Given the description of an element on the screen output the (x, y) to click on. 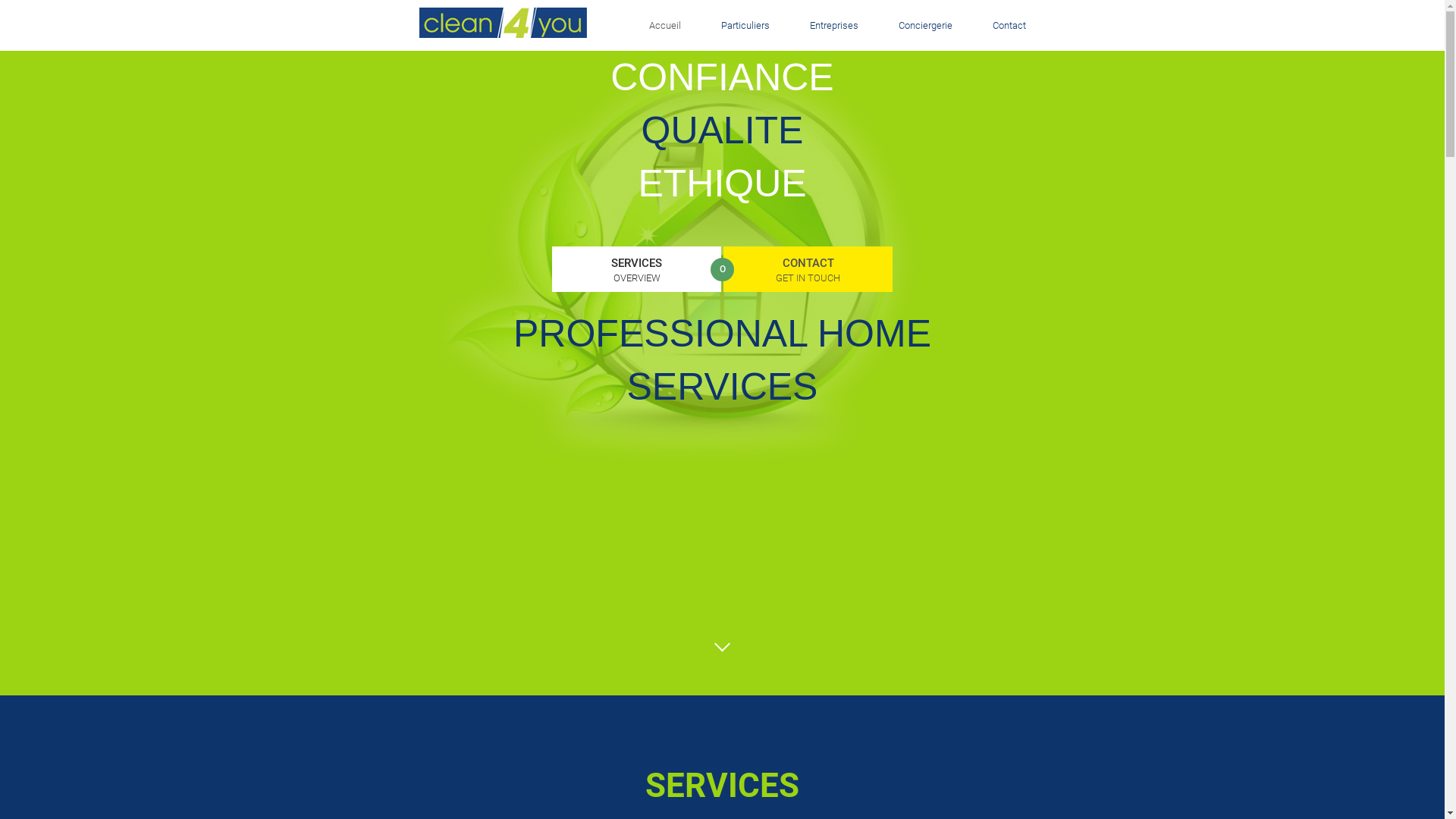
CONTACT
GET IN TOUCH Element type: text (807, 268)
SERVICES
OVERVIEW Element type: text (636, 268)
Contact Element type: text (999, 25)
Particuliers Element type: text (745, 25)
Entreprises Element type: text (833, 25)
Conciergerie Element type: text (925, 25)
Accueil Element type: text (664, 25)
